Given the description of an element on the screen output the (x, y) to click on. 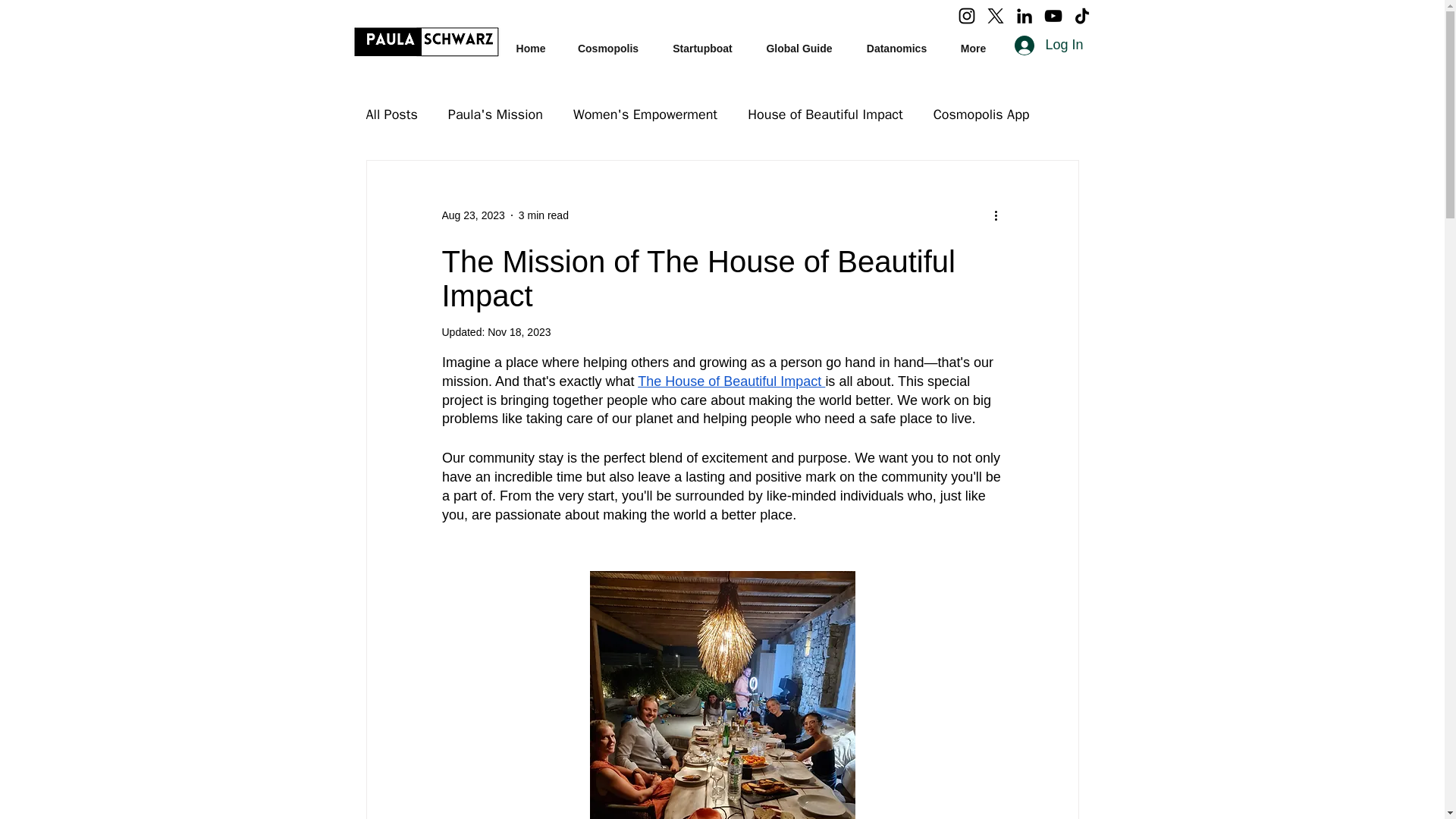
House of Beautiful Impact (825, 114)
Home (531, 41)
Global Guide (799, 41)
Cosmopolis App (981, 114)
Startupboat (703, 41)
The House of Beautiful Impact  (731, 381)
Paula's Mission (495, 114)
All Posts (390, 114)
Cosmopolis (606, 41)
Nov 18, 2023 (518, 331)
Women's Empowerment (645, 114)
Aug 23, 2023 (472, 215)
Log In (1048, 45)
3 min read (543, 215)
Datanomics (895, 41)
